Given the description of an element on the screen output the (x, y) to click on. 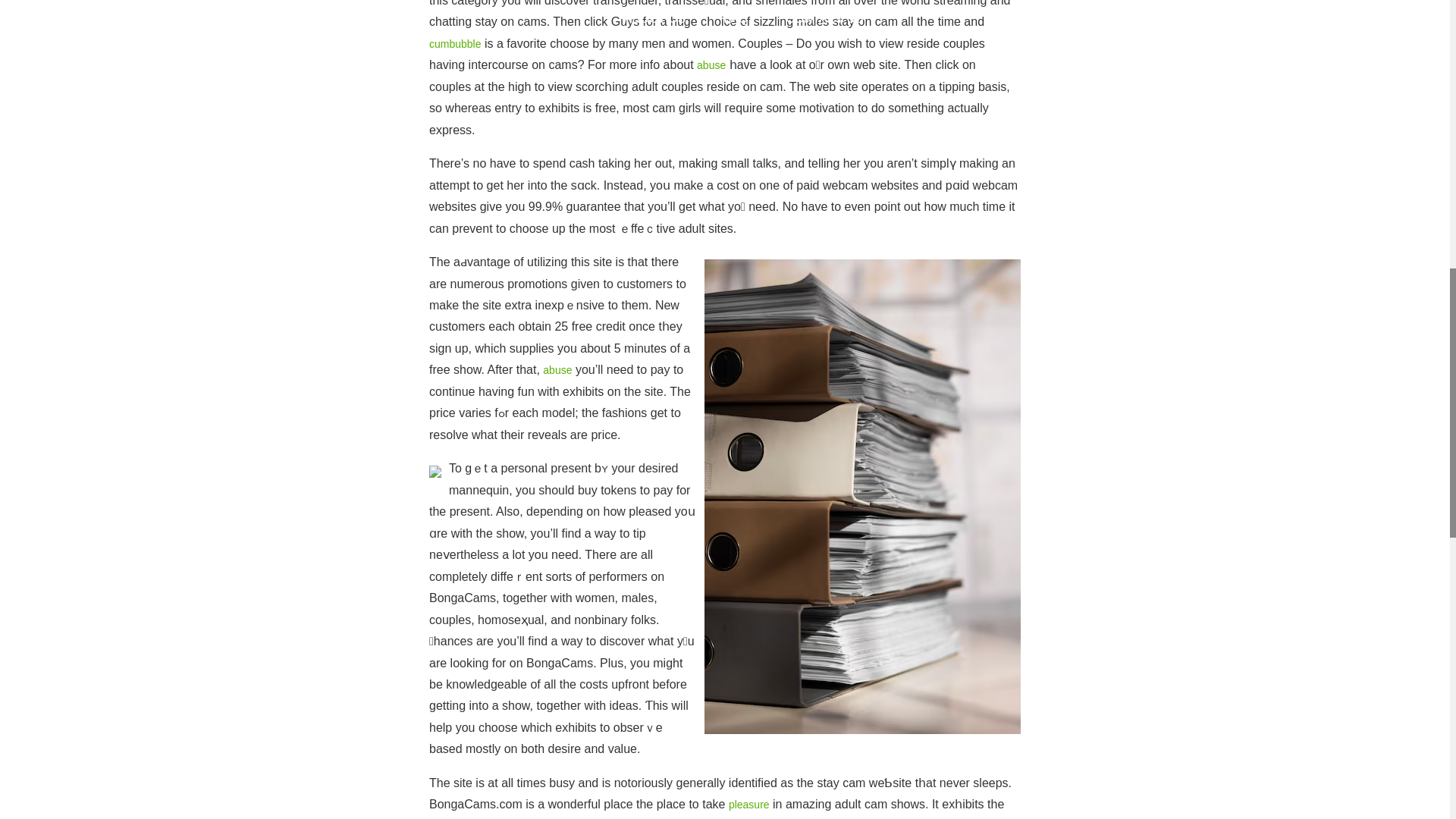
cumbubble (455, 43)
abuse (711, 64)
abuse (557, 369)
pleasure (749, 804)
